Given the description of an element on the screen output the (x, y) to click on. 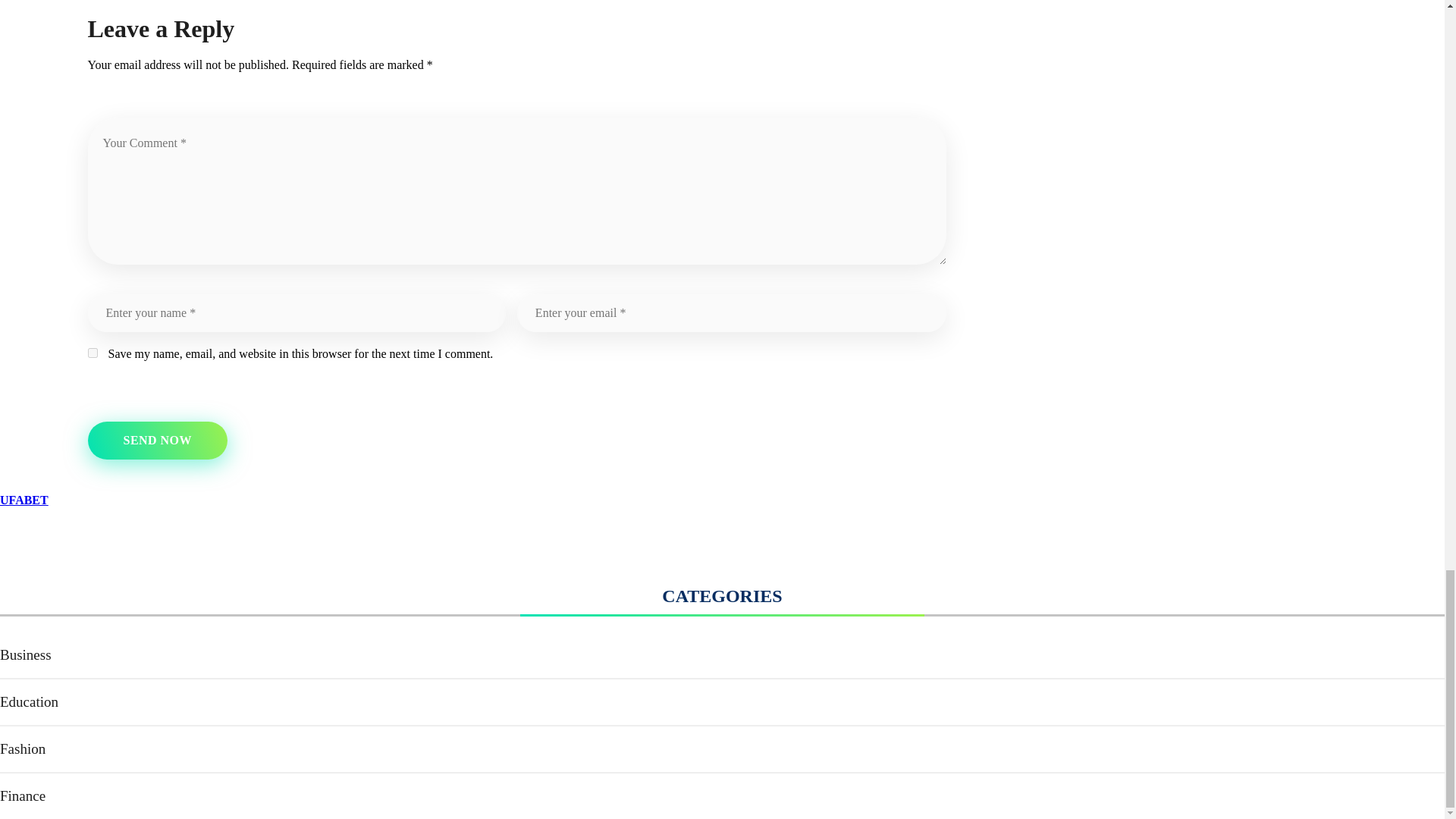
yes (92, 352)
